Given the description of an element on the screen output the (x, y) to click on. 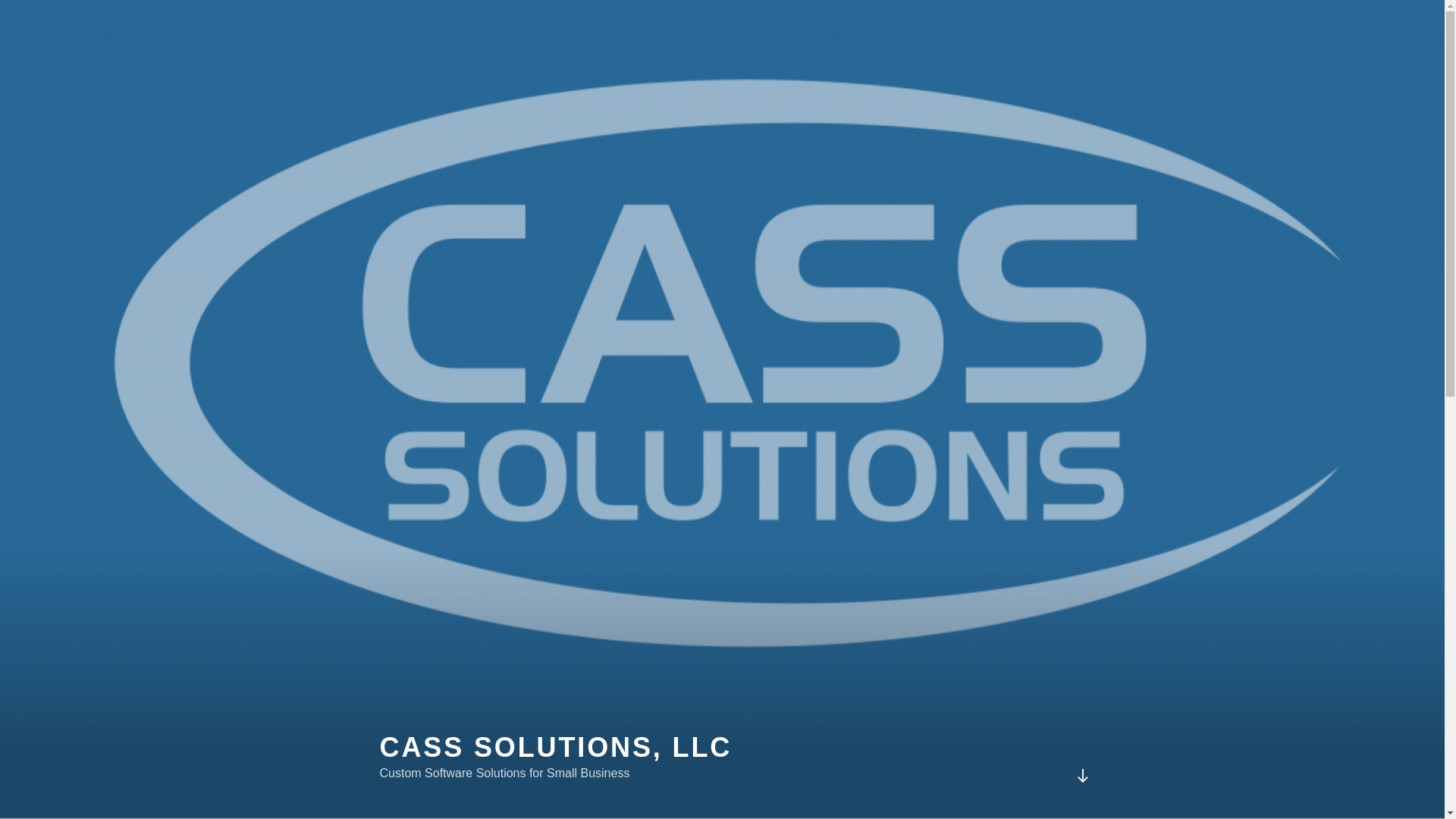
Scroll down to content (1081, 775)
Scroll down to content (1081, 775)
CASS SOLUTIONS, LLC (555, 747)
